Given the description of an element on the screen output the (x, y) to click on. 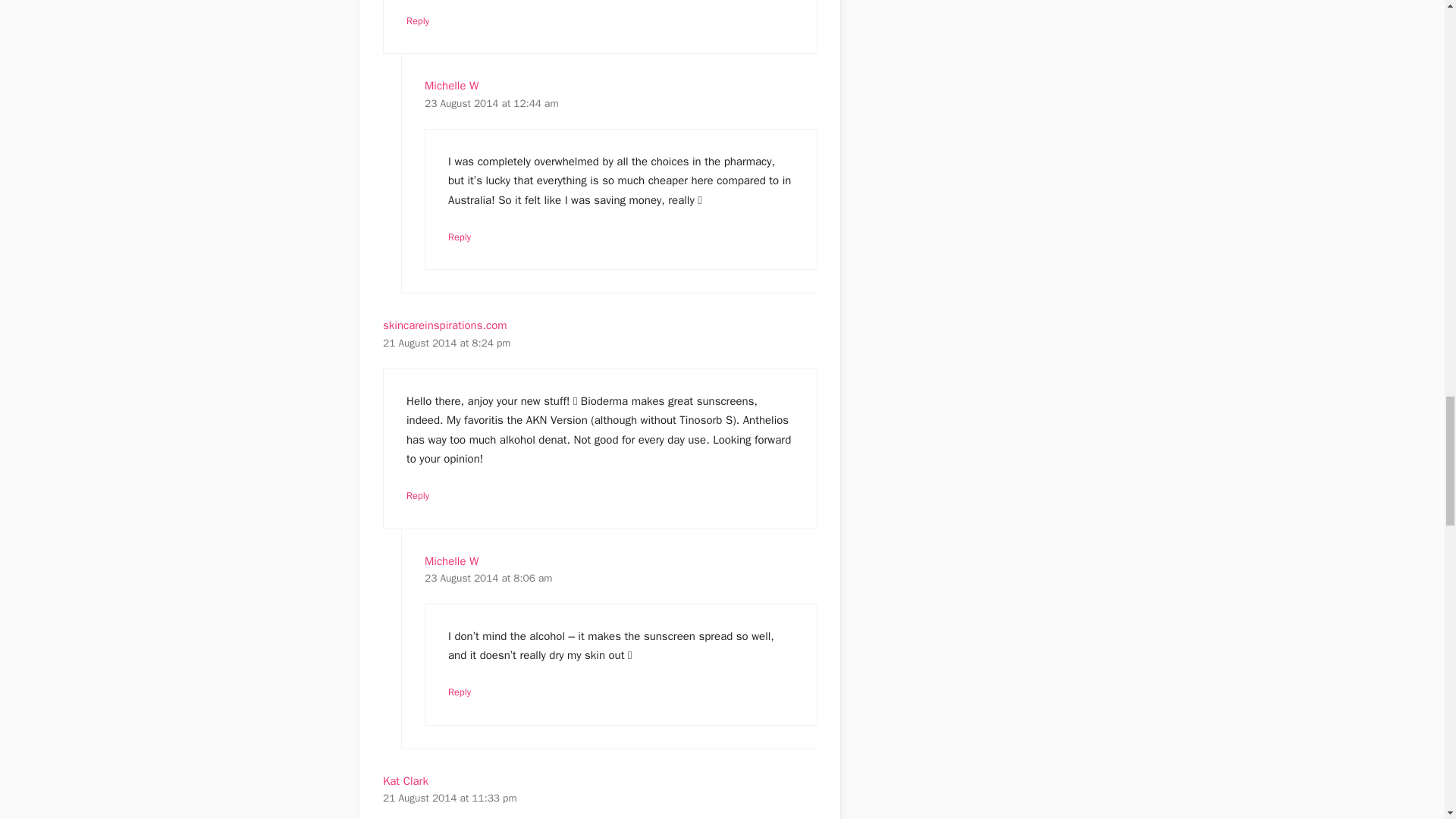
23 August 2014 at 12:44 am (492, 103)
skincareinspirations.com (444, 325)
Michelle W (452, 85)
Reply (459, 236)
Reply (417, 21)
21 August 2014 at 8:24 pm (446, 342)
